Given the description of an element on the screen output the (x, y) to click on. 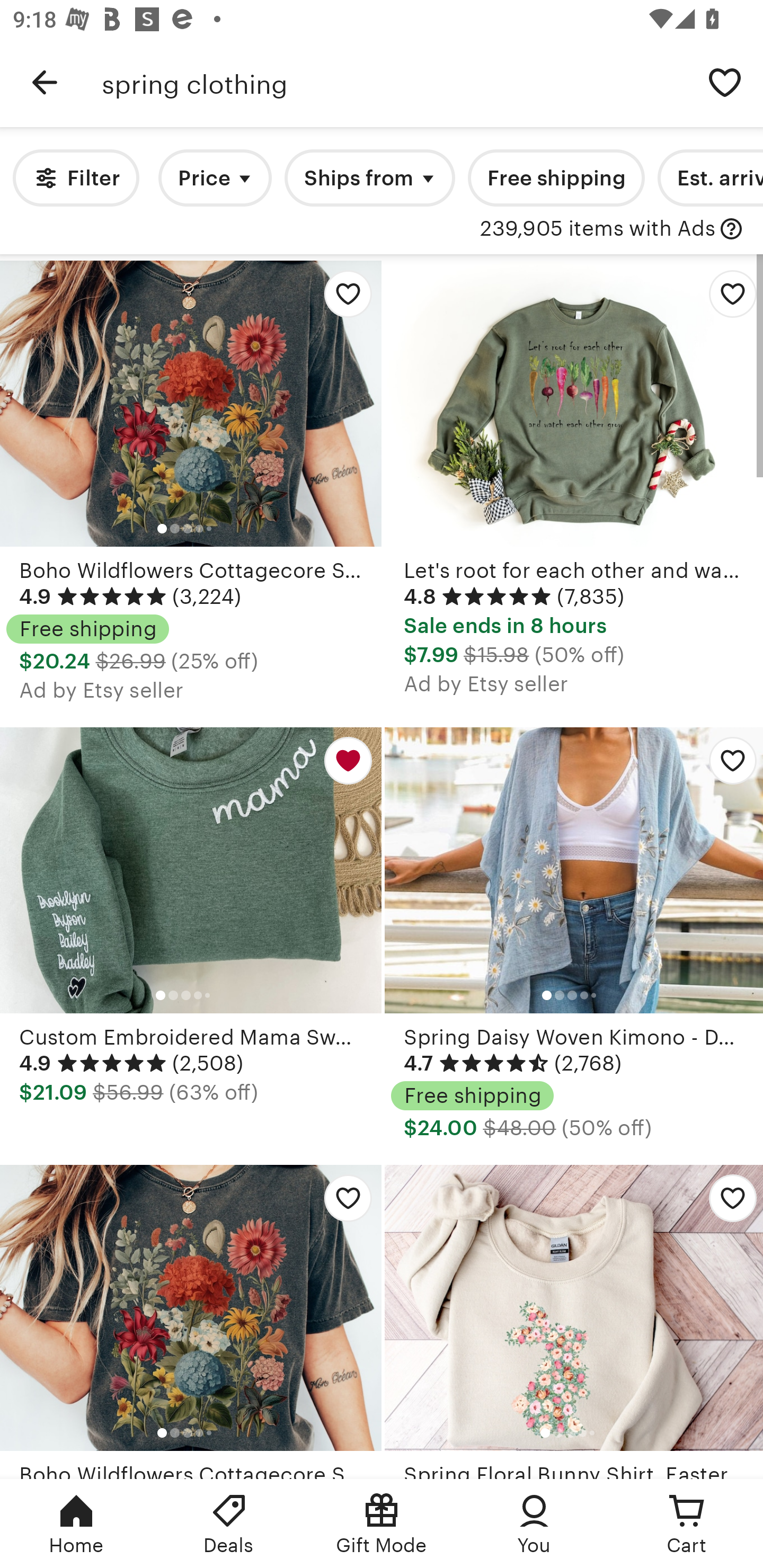
Navigate up (44, 82)
Save search (724, 81)
spring clothing (393, 82)
Filter (75, 177)
Price (214, 177)
Ships from (369, 177)
Free shipping (555, 177)
239,905 items with Ads (597, 228)
with Ads (730, 228)
Deals (228, 1523)
Gift Mode (381, 1523)
You (533, 1523)
Cart (686, 1523)
